Given the description of an element on the screen output the (x, y) to click on. 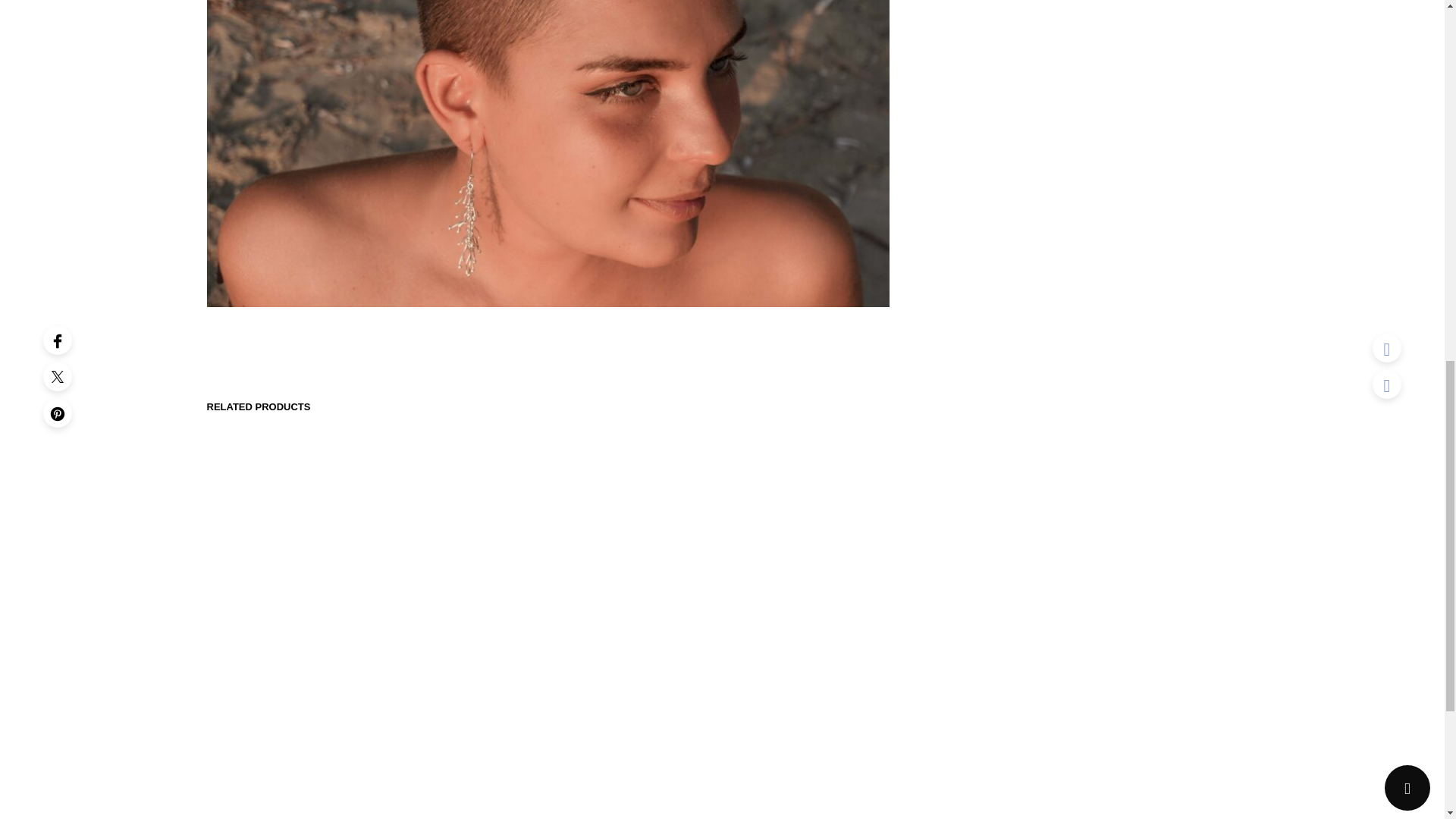
HOME (992, 334)
SHOP (1028, 334)
contact us (1041, 639)
ADD TO WISHLIST (1046, 734)
EARRINGS (1070, 334)
ADD TO BASKET (1141, 681)
1 (1010, 681)
